Given the description of an element on the screen output the (x, y) to click on. 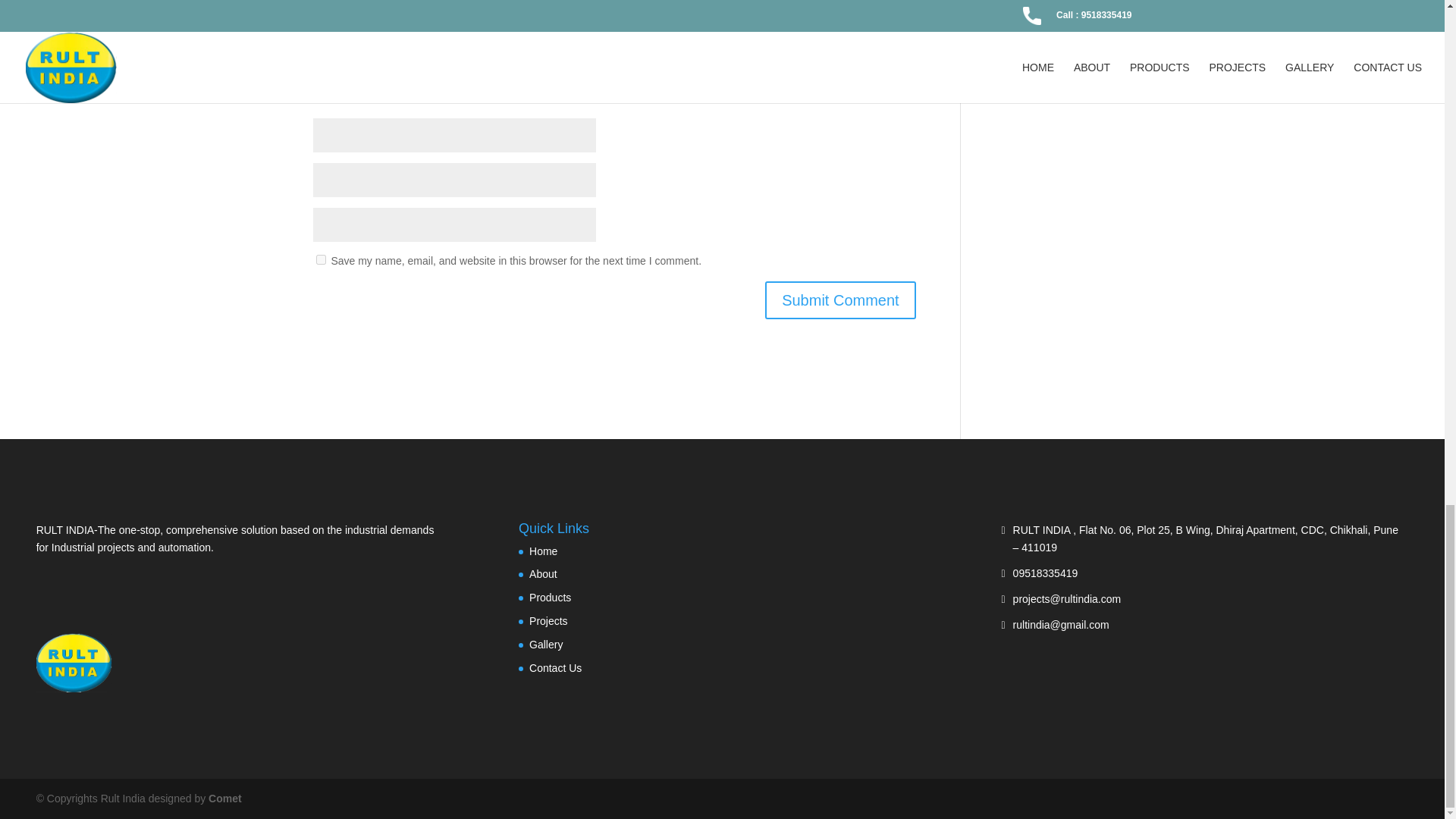
yes (319, 259)
Contact Us (554, 667)
Gallery (545, 644)
About (543, 573)
Projects (548, 621)
09518335419 (1045, 573)
Comet (224, 798)
Products (549, 597)
Submit Comment (840, 300)
Home (543, 551)
Submit Comment (840, 300)
